Given the description of an element on the screen output the (x, y) to click on. 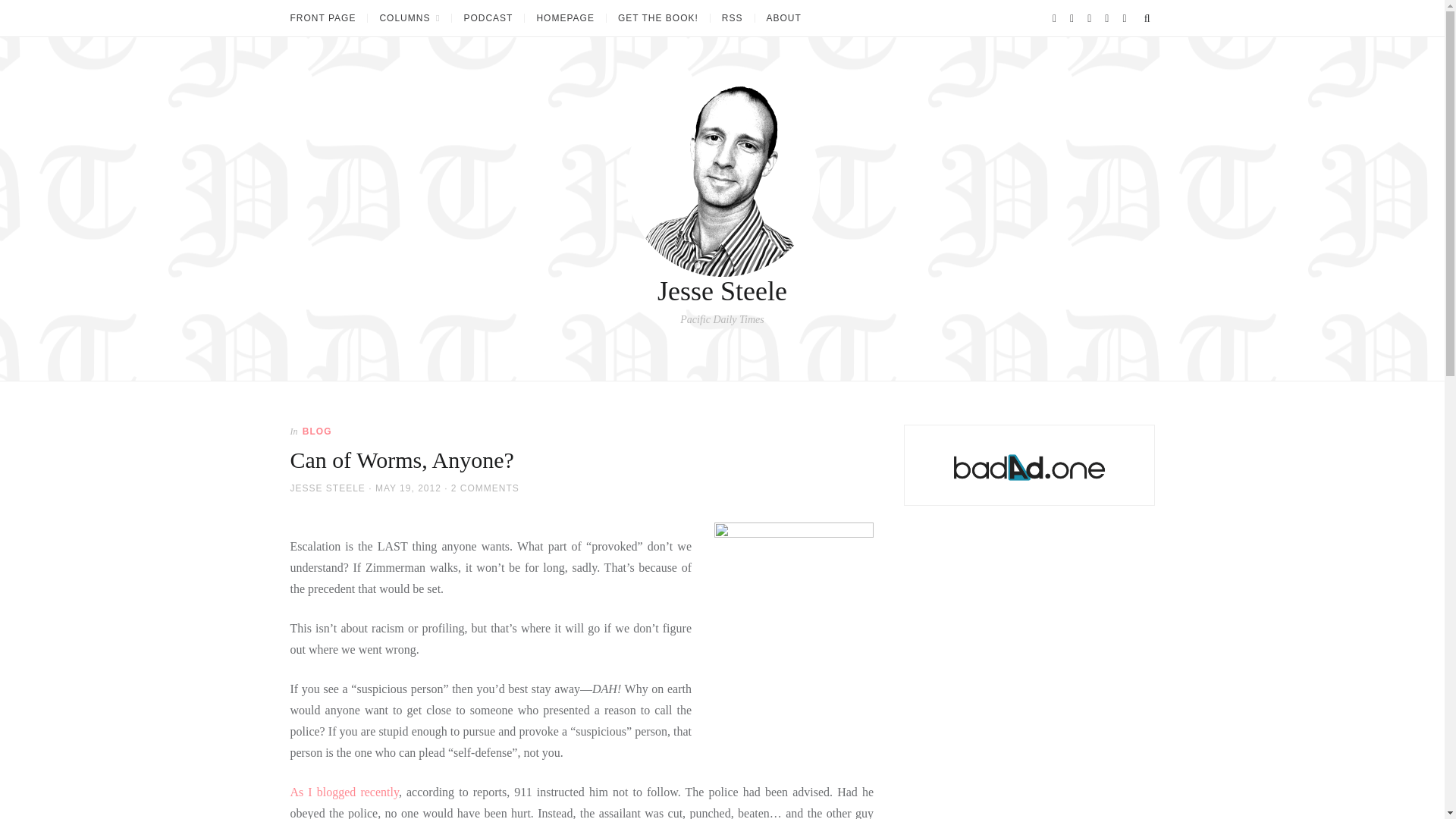
BLOG (316, 430)
Go to article True Racism (343, 791)
2 COMMENTS (485, 488)
Jesse Steele (722, 291)
Unannoying advertising (1029, 467)
jessesteele.pacificdailytimes.com (408, 17)
about Jesse (783, 17)
COLUMNS (408, 17)
HOMEPAGE (564, 17)
MAY 19, 2012 (408, 488)
